Given the description of an element on the screen output the (x, y) to click on. 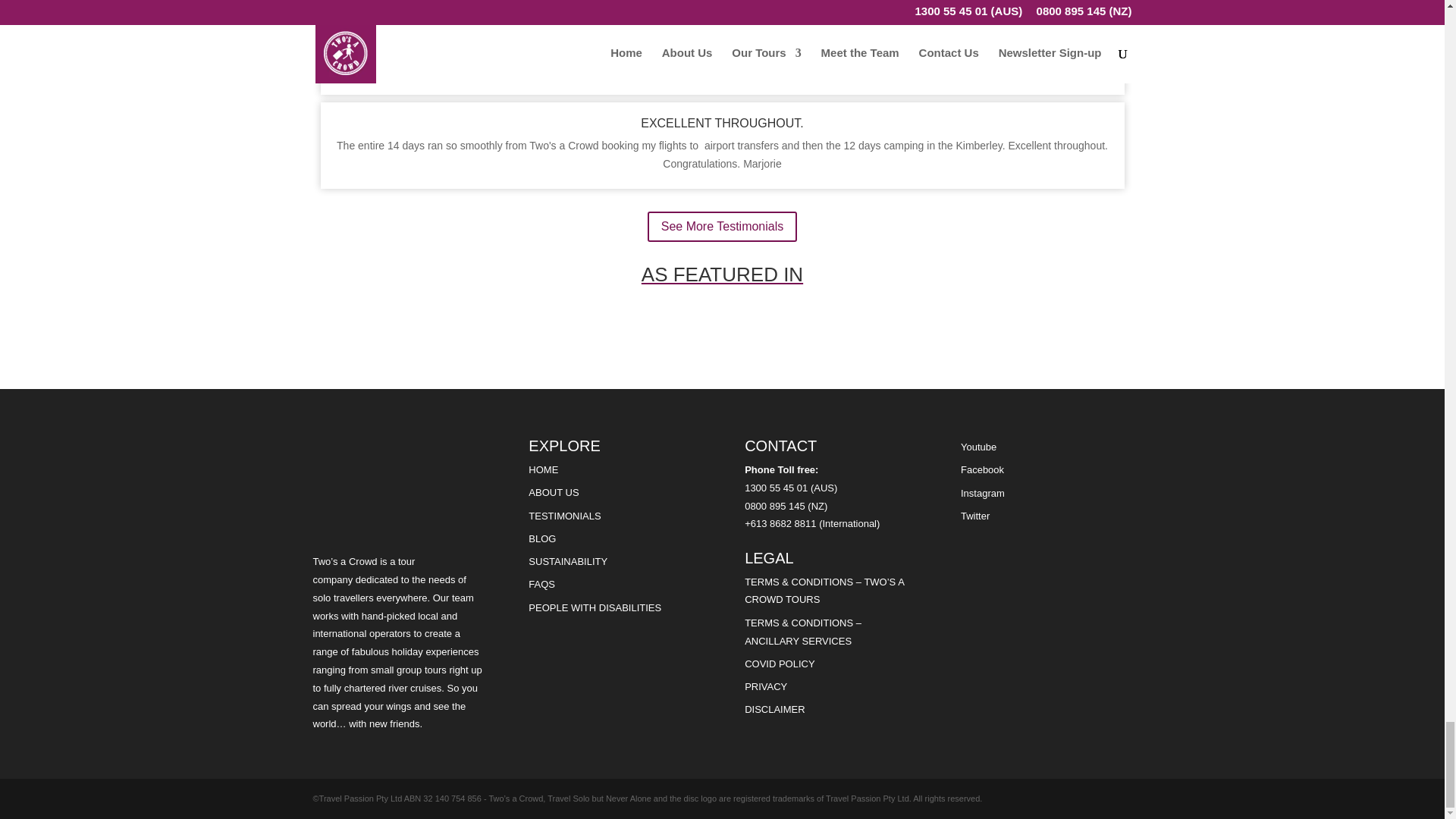
ABOUT US (553, 491)
FAQS (541, 583)
BLOG (542, 538)
TESTIMONIALS (563, 515)
HOME (542, 469)
See More Testimonials (722, 226)
0800 895 145 (776, 505)
SUSTAINABILITY (567, 561)
DISCLAIMER (774, 708)
Facebook (982, 469)
